Given the description of an element on the screen output the (x, y) to click on. 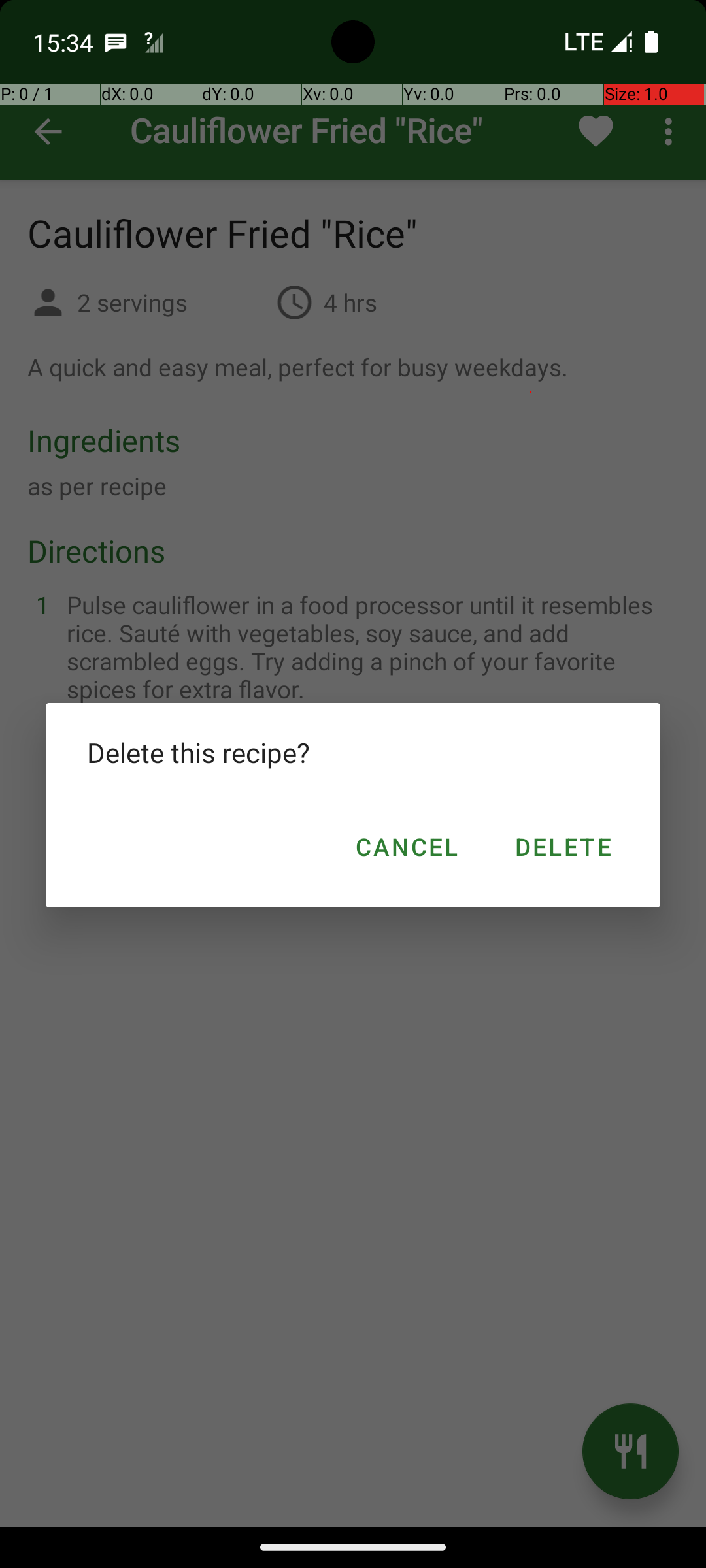
Delete this recipe? Element type: android.widget.TextView (352, 751)
DELETE Element type: android.widget.Button (562, 846)
